Given the description of an element on the screen output the (x, y) to click on. 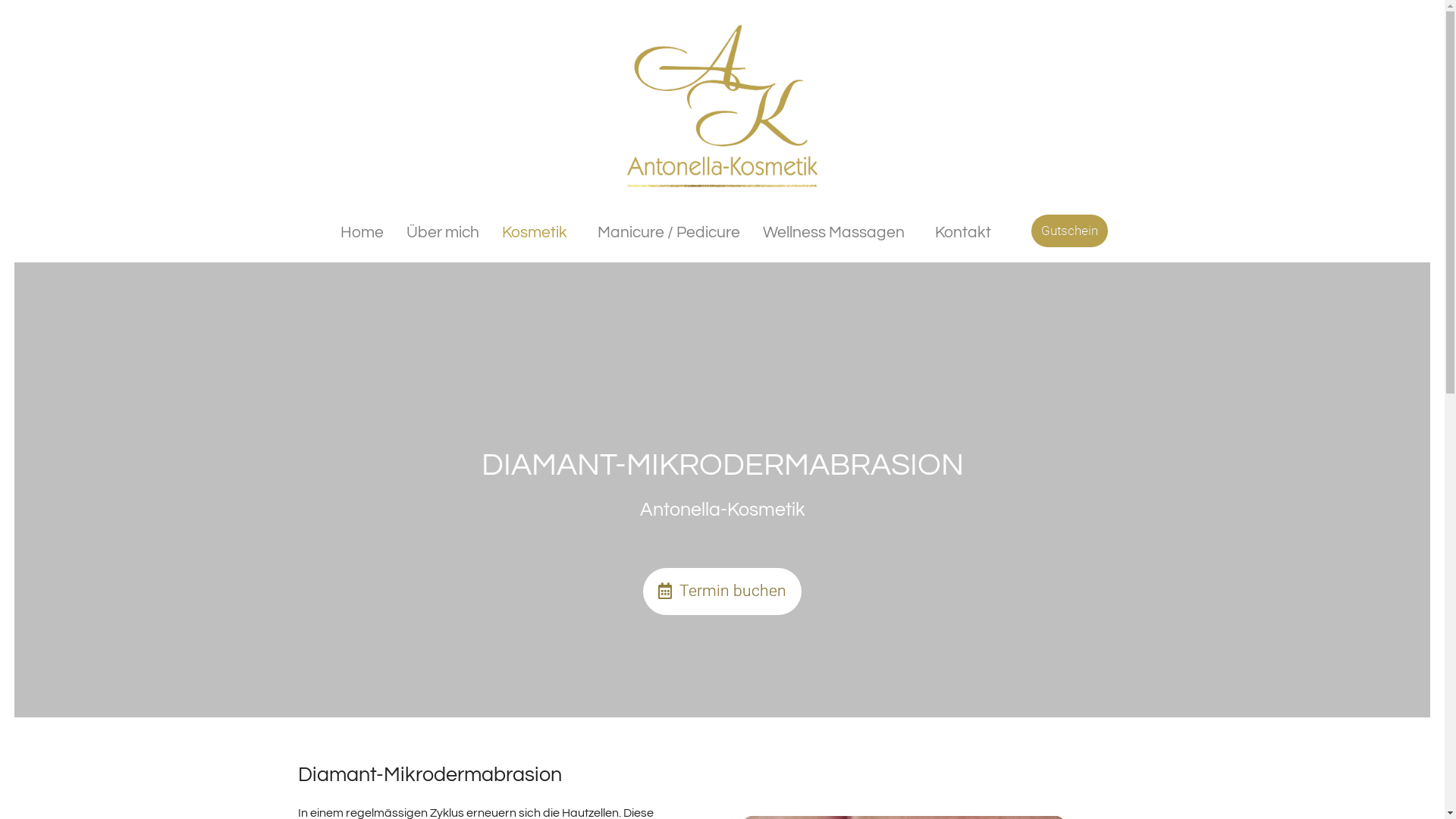
Gutschein Element type: text (1069, 230)
Home Element type: text (362, 232)
Manicure / Pedicure Element type: text (668, 232)
Kosmetik Element type: text (538, 232)
Termin buchen Element type: text (722, 591)
Wellness Massagen Element type: text (837, 232)
Kontakt Element type: text (962, 232)
